Given the description of an element on the screen output the (x, y) to click on. 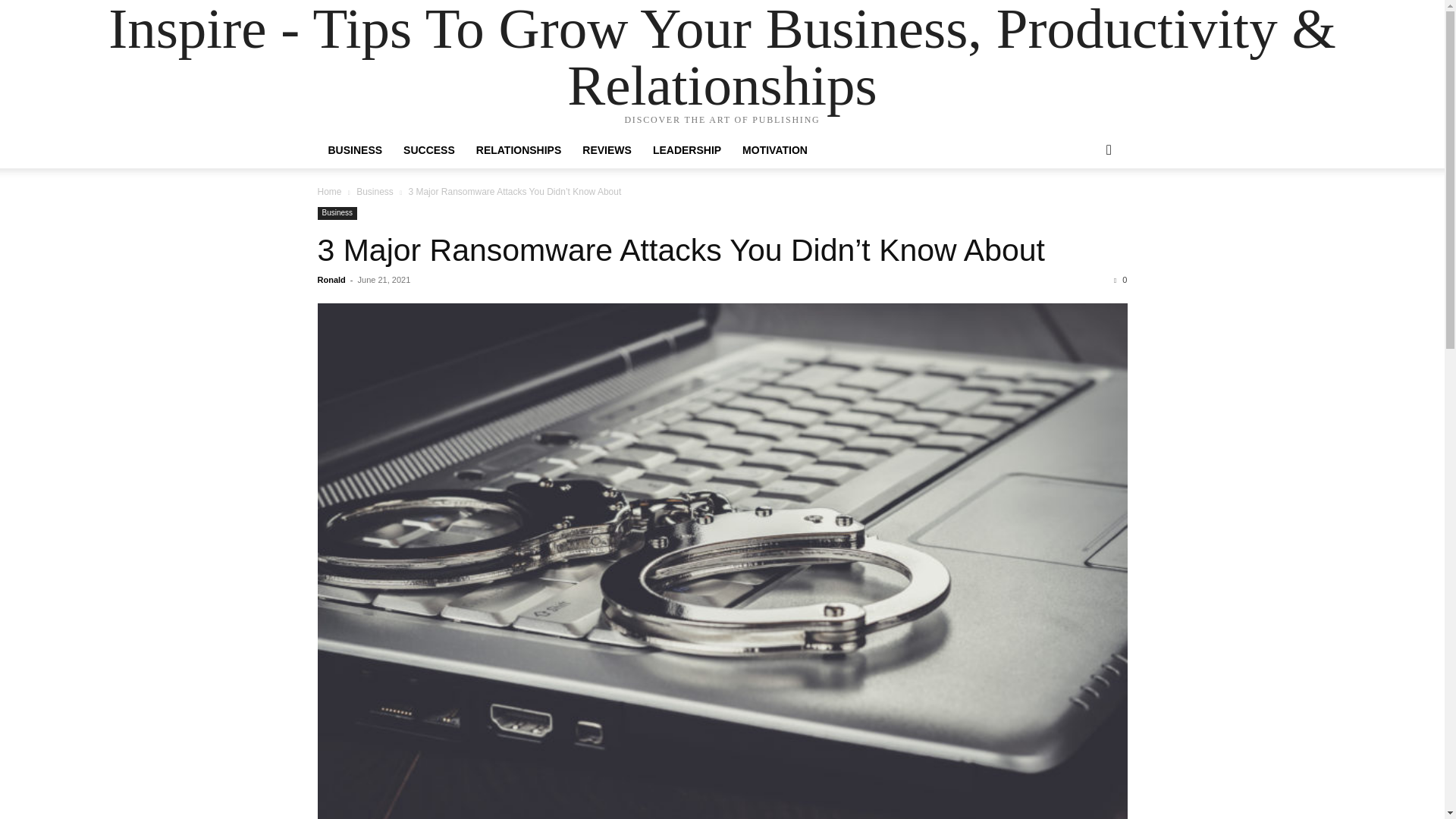
LEADERSHIP (687, 150)
Business (374, 191)
View all posts in Business (374, 191)
Business (336, 213)
MOTIVATION (775, 150)
Home (328, 191)
REVIEWS (607, 150)
BUSINESS (355, 150)
Search (1085, 210)
SUCCESS (429, 150)
Ronald (331, 279)
RELATIONSHIPS (518, 150)
0 (1119, 279)
